Given the description of an element on the screen output the (x, y) to click on. 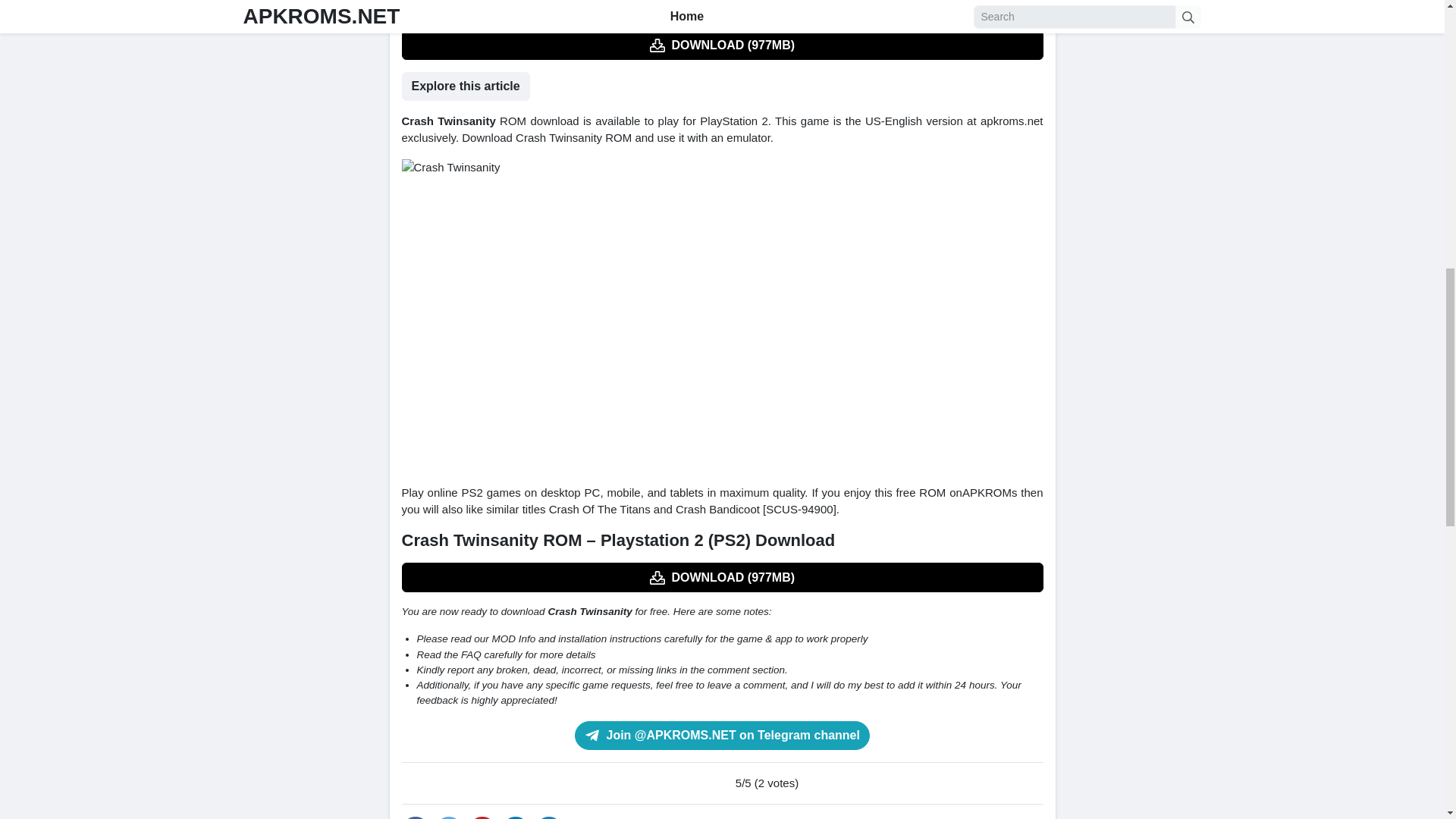
Explore this article (465, 86)
